Given the description of an element on the screen output the (x, y) to click on. 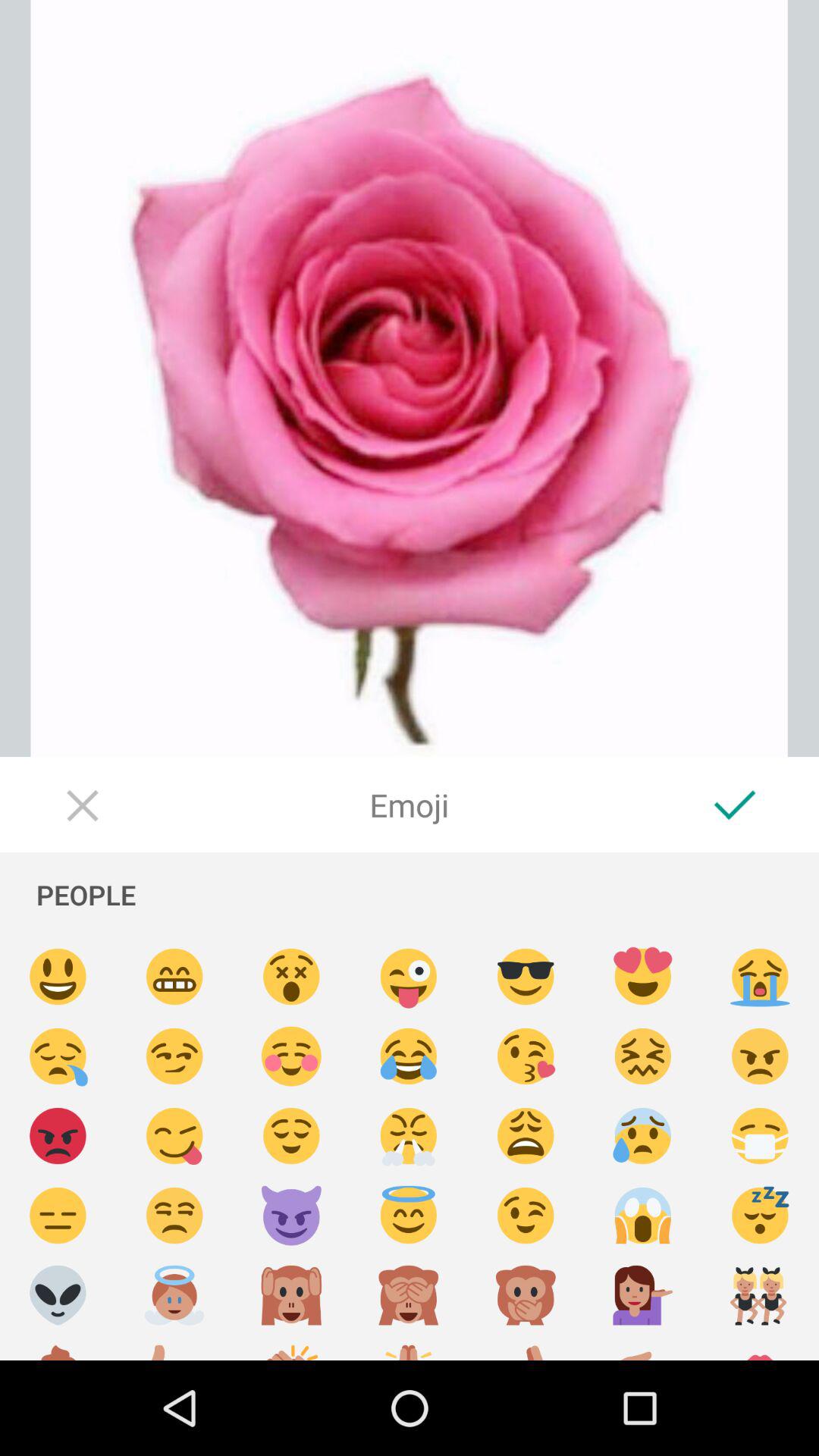
select angry face emoji (58, 1136)
